Given the description of an element on the screen output the (x, y) to click on. 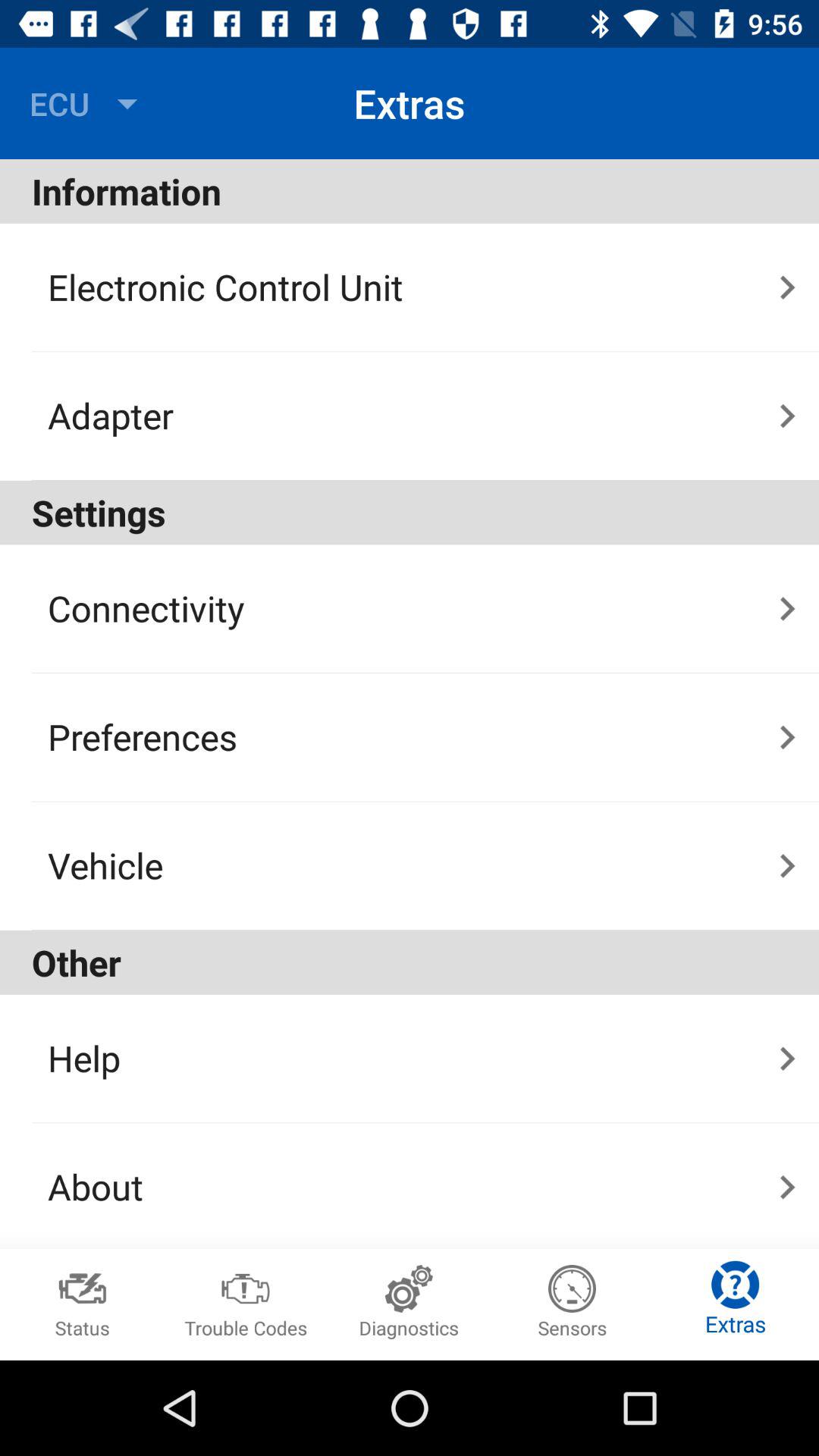
launch the item to the left of the extras item (87, 103)
